Given the description of an element on the screen output the (x, y) to click on. 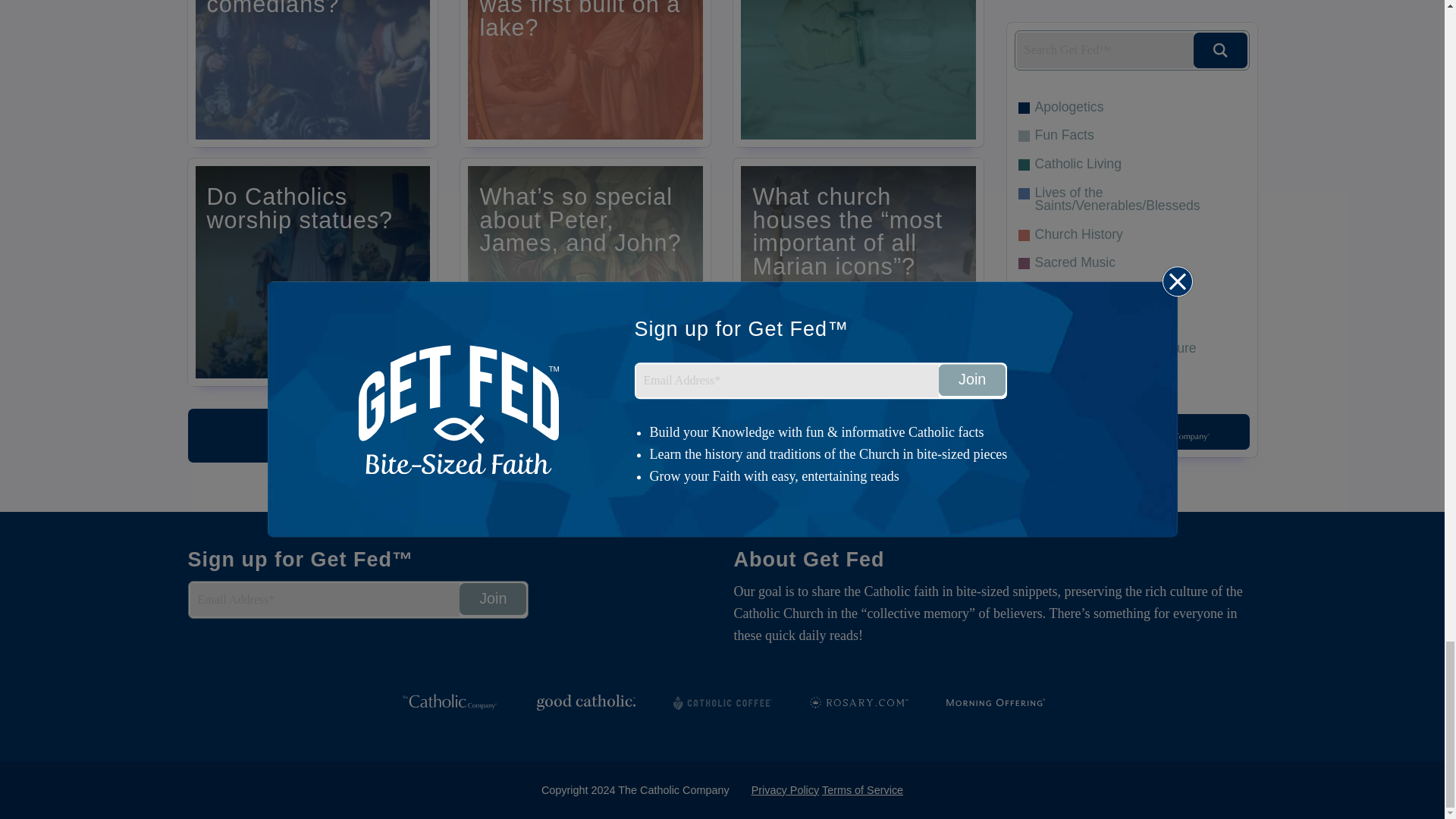
Who is the patron saint of chefs and comedians? (312, 73)
Join (492, 599)
Which world-famous basilica was first built on a lake? (585, 73)
Do Catholics worship statues? (312, 271)
Load More (585, 435)
Join (492, 599)
